Given the description of an element on the screen output the (x, y) to click on. 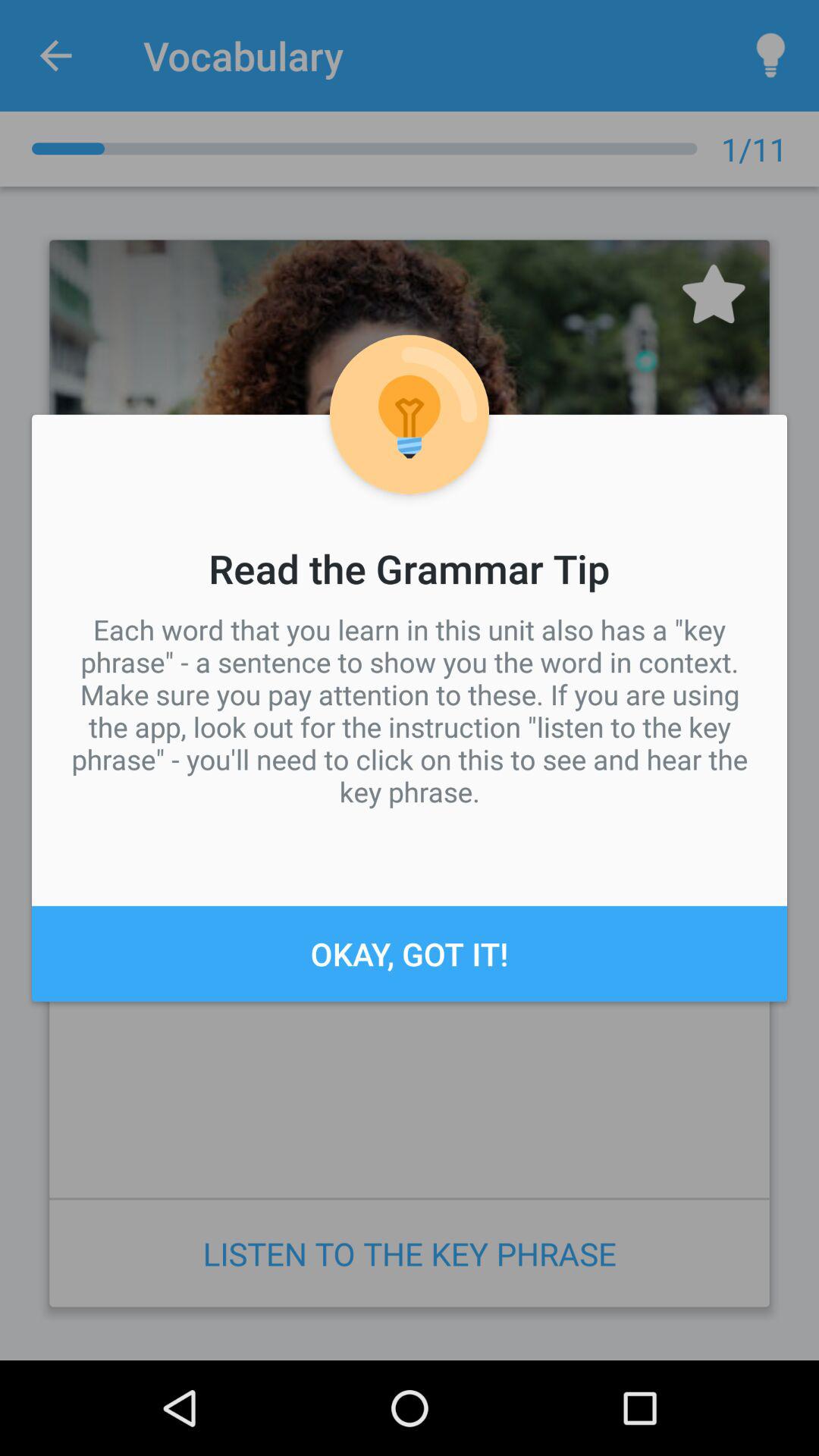
flip until the okay, got it! icon (409, 953)
